Given the description of an element on the screen output the (x, y) to click on. 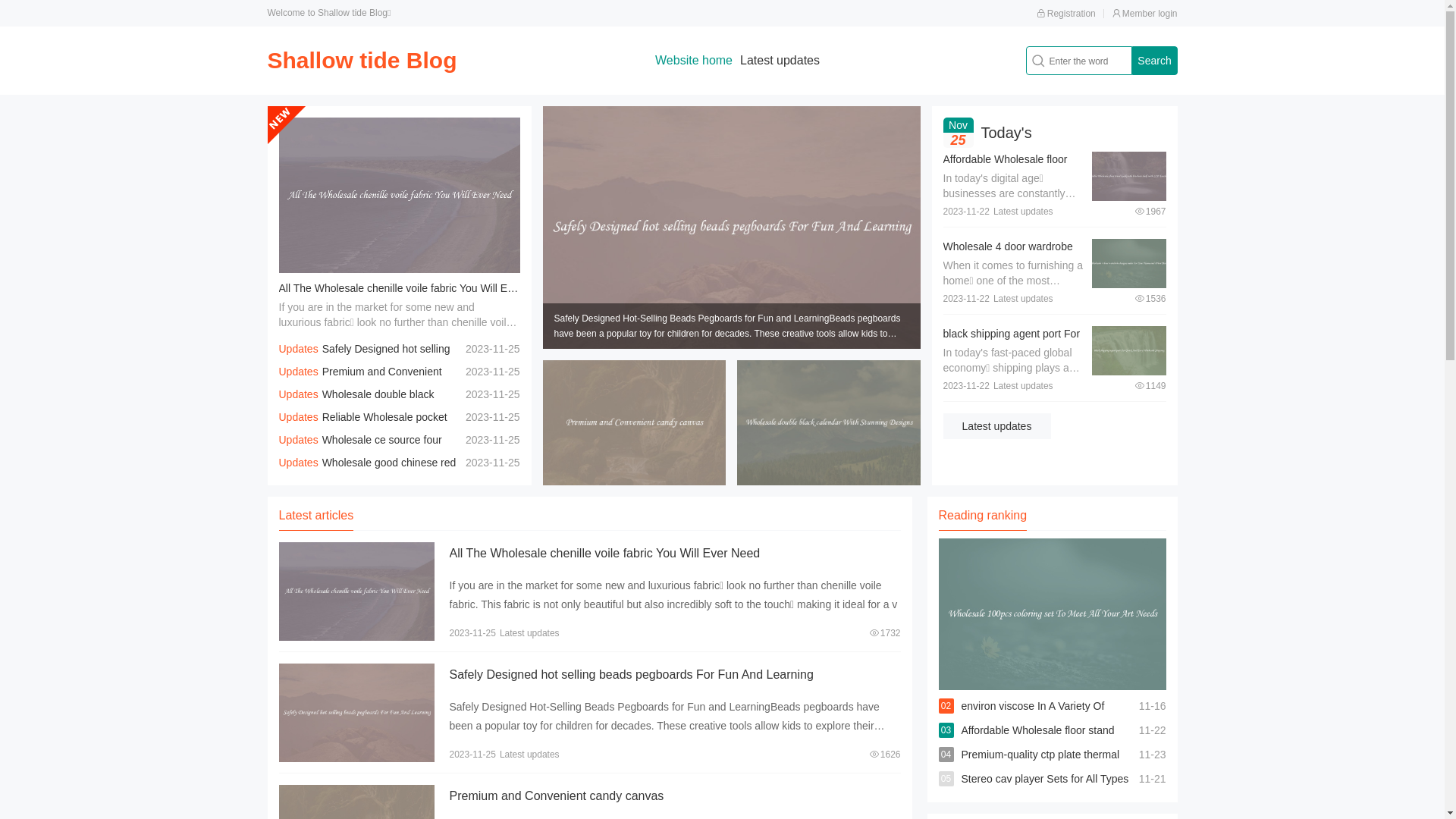
Premium and Convenient candy canvas Element type: text (555, 795)
Premium and Convenient candy canvas Element type: text (360, 382)
Premium-quality ctp plate thermal positive At Amazing Deals Element type: text (1040, 766)
Latest updates Element type: text (997, 426)
Latest updates Element type: text (779, 59)
Stereo cav player Sets for All Types of Models Element type: text (1045, 790)
Search Element type: text (1153, 60)
environ viscose In A Variety Of Colors Element type: text (1032, 717)
All The Wholesale chenille voile fabric You Will Ever Need Element type: text (414, 288)
All The Wholesale chenille voile fabric You Will Ever Need Element type: text (603, 552)
Shallow tide Blog Element type: text (361, 59)
Registration Element type: text (1065, 13)
Member login Element type: text (1144, 13)
Wholesale double black calendar With Stunning Designs Element type: text (356, 405)
Website home Element type: text (693, 59)
